Given the description of an element on the screen output the (x, y) to click on. 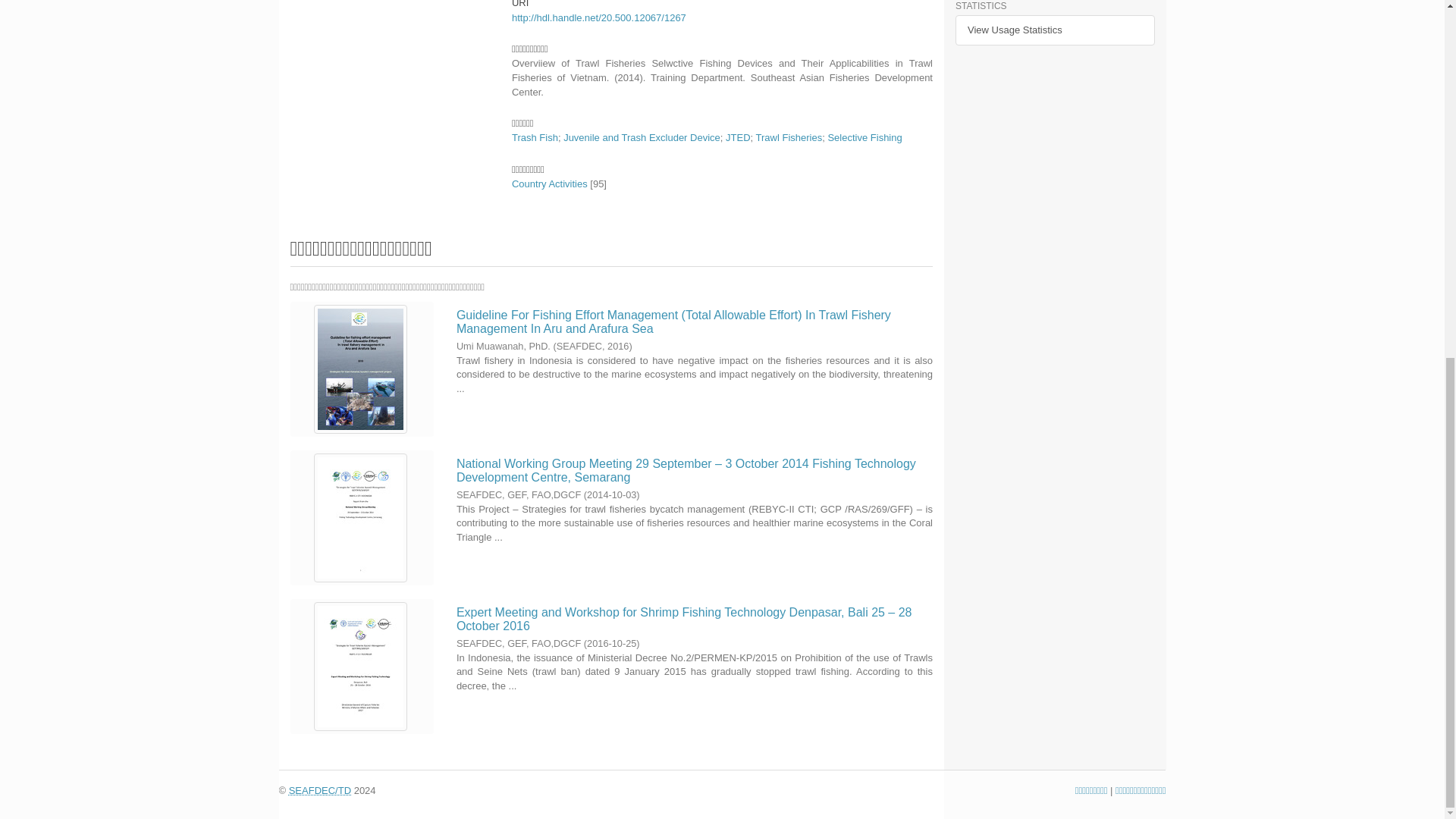
JTED (738, 137)
Selective Fishing (864, 137)
Juvenile and Trash Excluder Device (641, 137)
Country Activities (550, 183)
Trawl Fisheries (788, 137)
Trash Fish (534, 137)
